Given the description of an element on the screen output the (x, y) to click on. 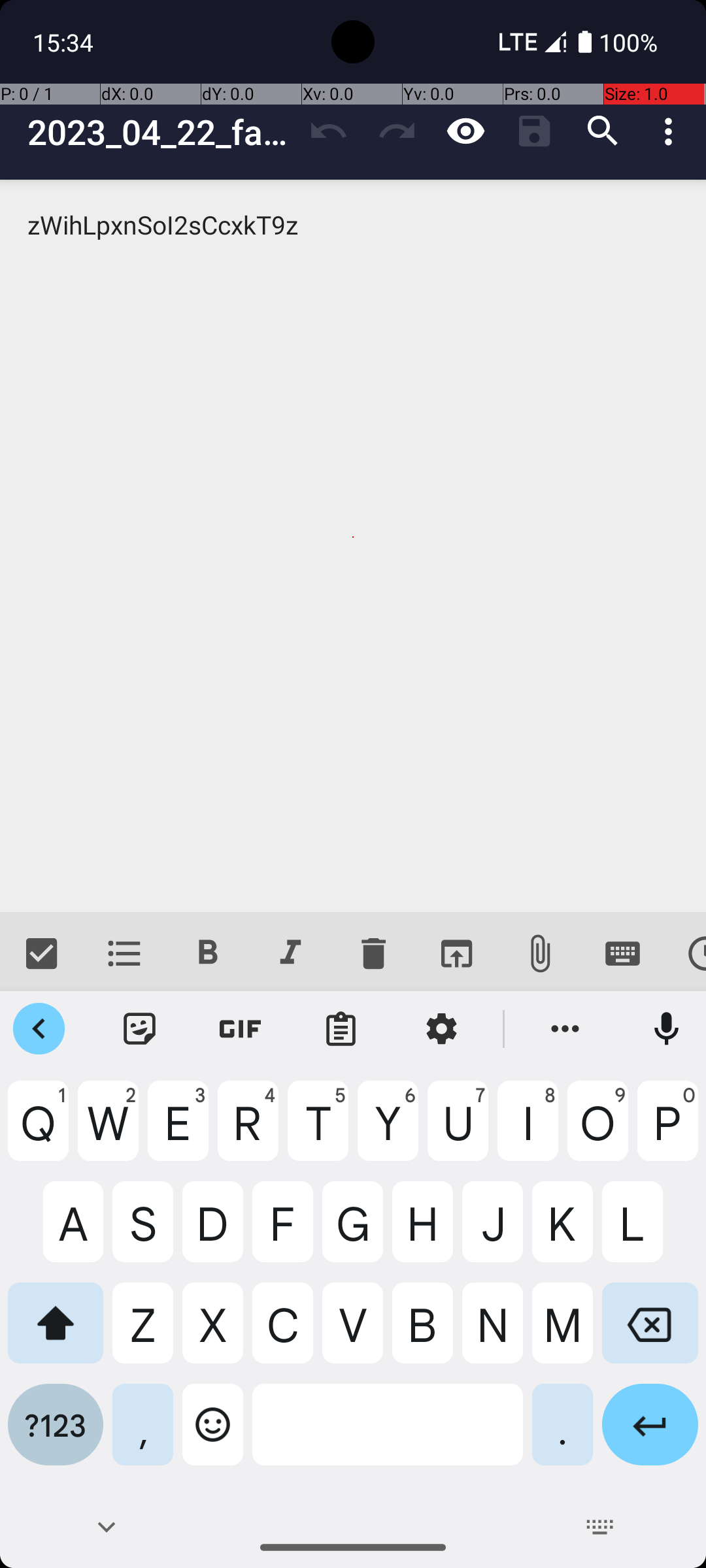
2023_04_22_favorite_book_quotes Element type: android.widget.TextView (160, 131)
zWihLpxnSoI2sCcxkT9z
 Element type: android.widget.EditText (353, 545)
